Given the description of an element on the screen output the (x, y) to click on. 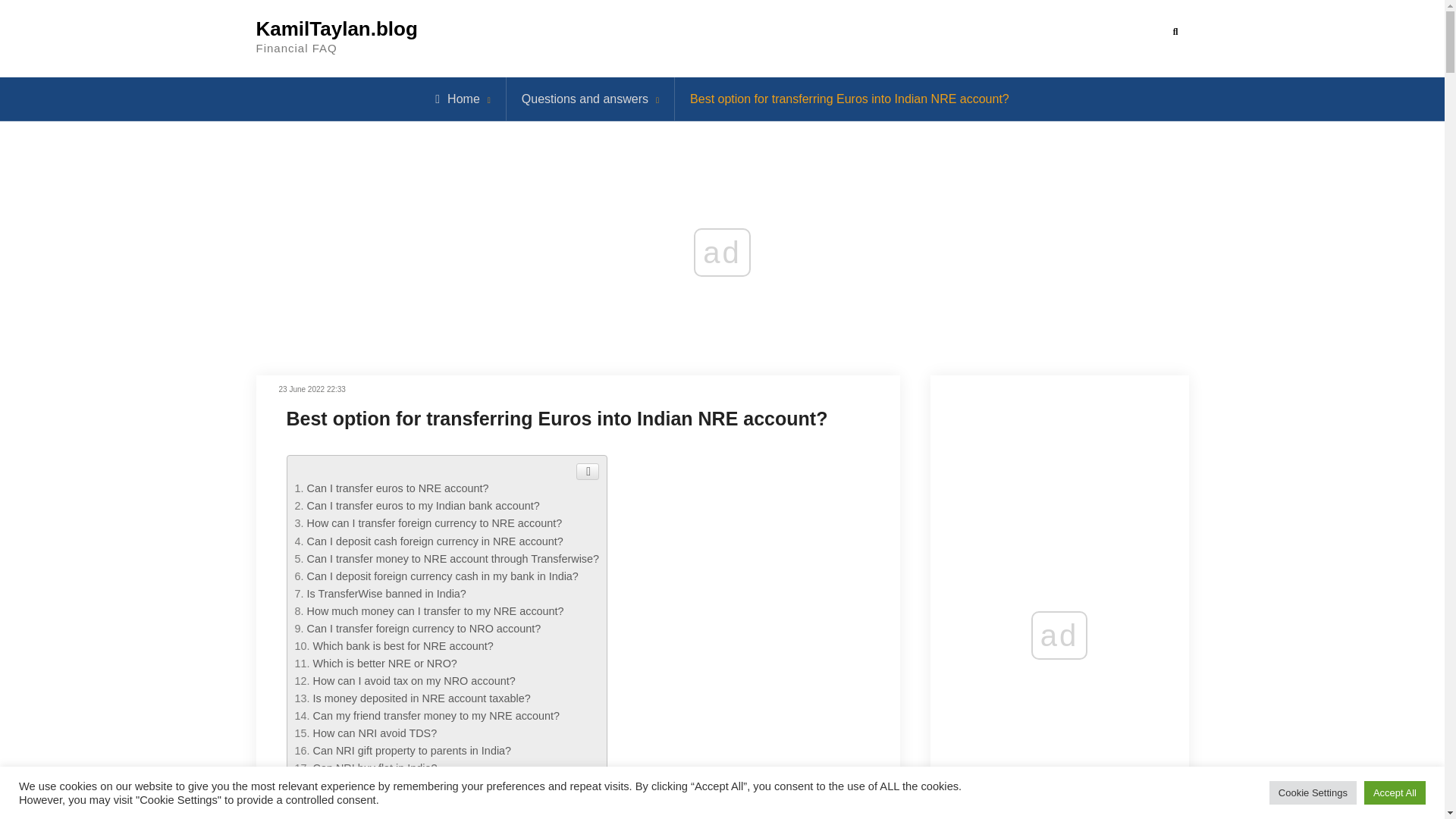
How can NRI avoid TDS? (375, 733)
Can my friend transfer money to my NRE account? (436, 715)
Is money deposited in NRE account taxable? (422, 698)
Can I transfer euros to NRE account? (396, 488)
Questions and answers (584, 98)
Which bank is best for NRE account? (403, 645)
How can I avoid tax on my NRO account? (414, 680)
Can I transfer money to NRE account through Transferwise? (451, 558)
Can I transfer foreign currency to NRO account? (422, 628)
Home (457, 98)
Can my friend transfer money to my NRE account? (436, 715)
How much money can I transfer to my NRE account? (434, 611)
Which bank is best for NRE account? (403, 645)
KamilTaylan.blog (336, 28)
Can I deposit foreign currency cash in my bank in India? (441, 576)
